Given the description of an element on the screen output the (x, y) to click on. 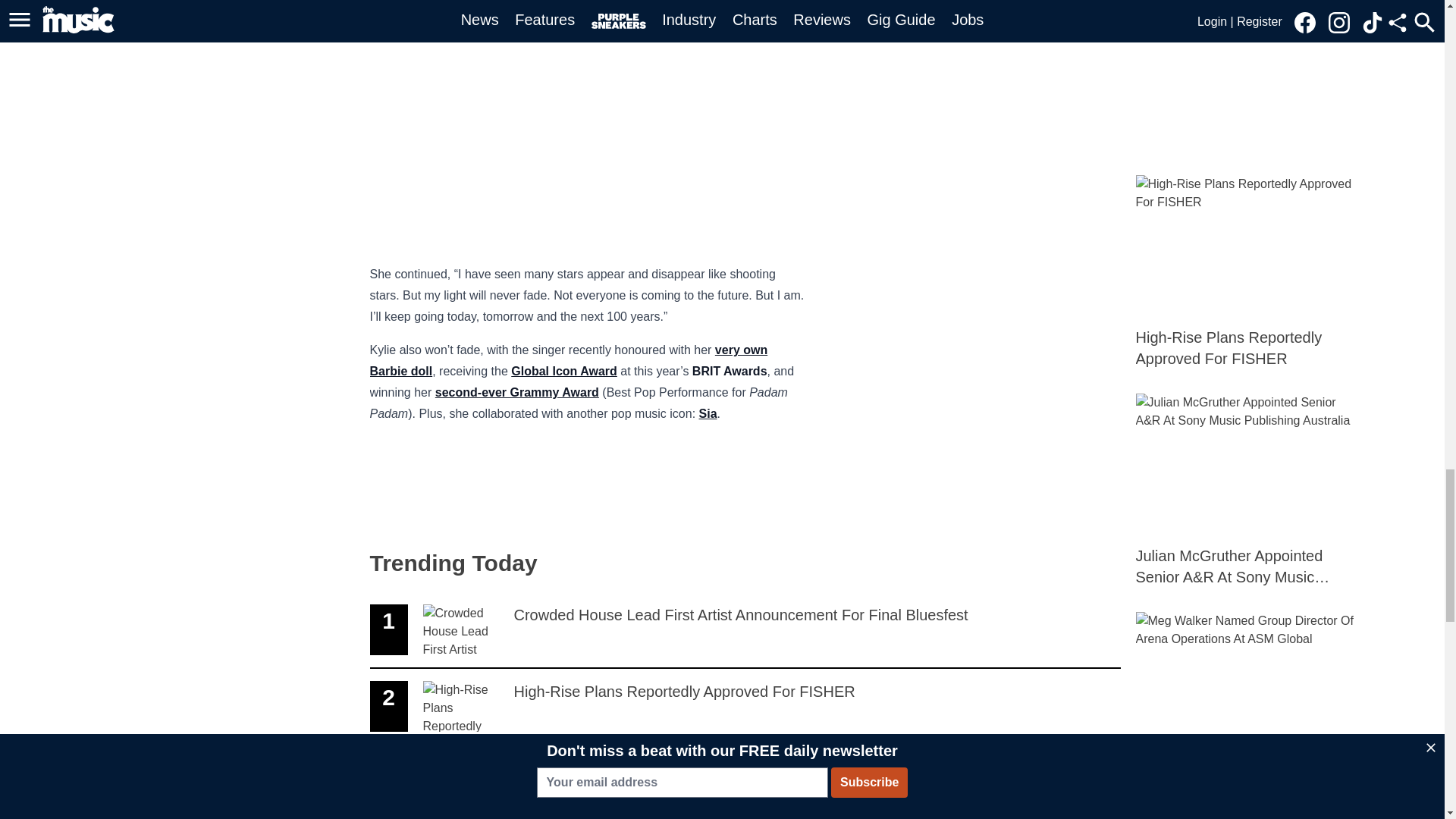
Sia (707, 413)
second-ever Grammy Award (516, 391)
very own Barbie doll (568, 360)
Global Icon Award (745, 707)
